Given the description of an element on the screen output the (x, y) to click on. 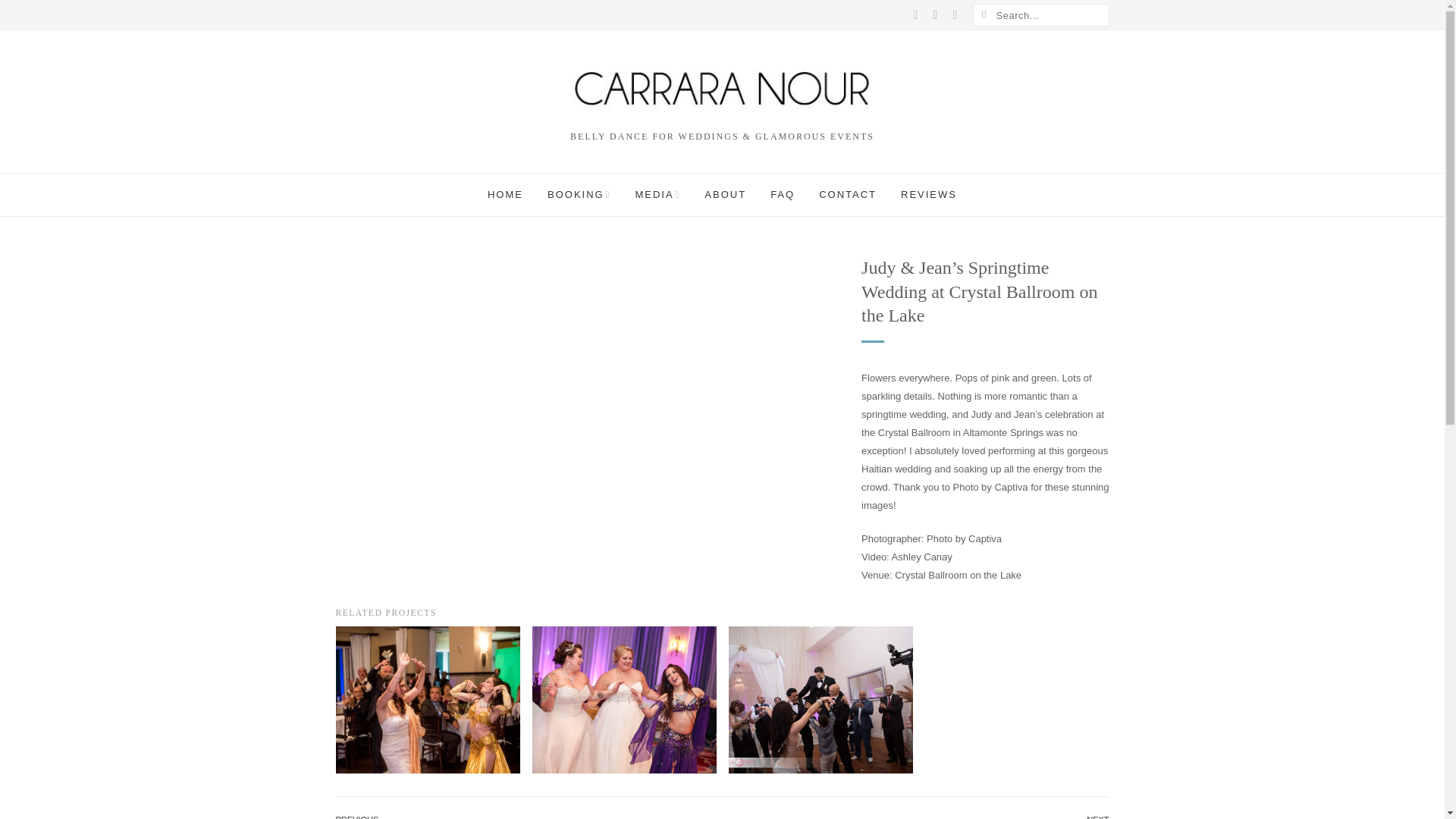
ABOUT (725, 194)
FAQ (782, 194)
FAQ (782, 194)
MEDIA (658, 194)
HOME (505, 194)
CONTACT (847, 194)
REVIEWS (928, 194)
Media (658, 194)
Go (983, 15)
BOOKING (579, 194)
